Given the description of an element on the screen output the (x, y) to click on. 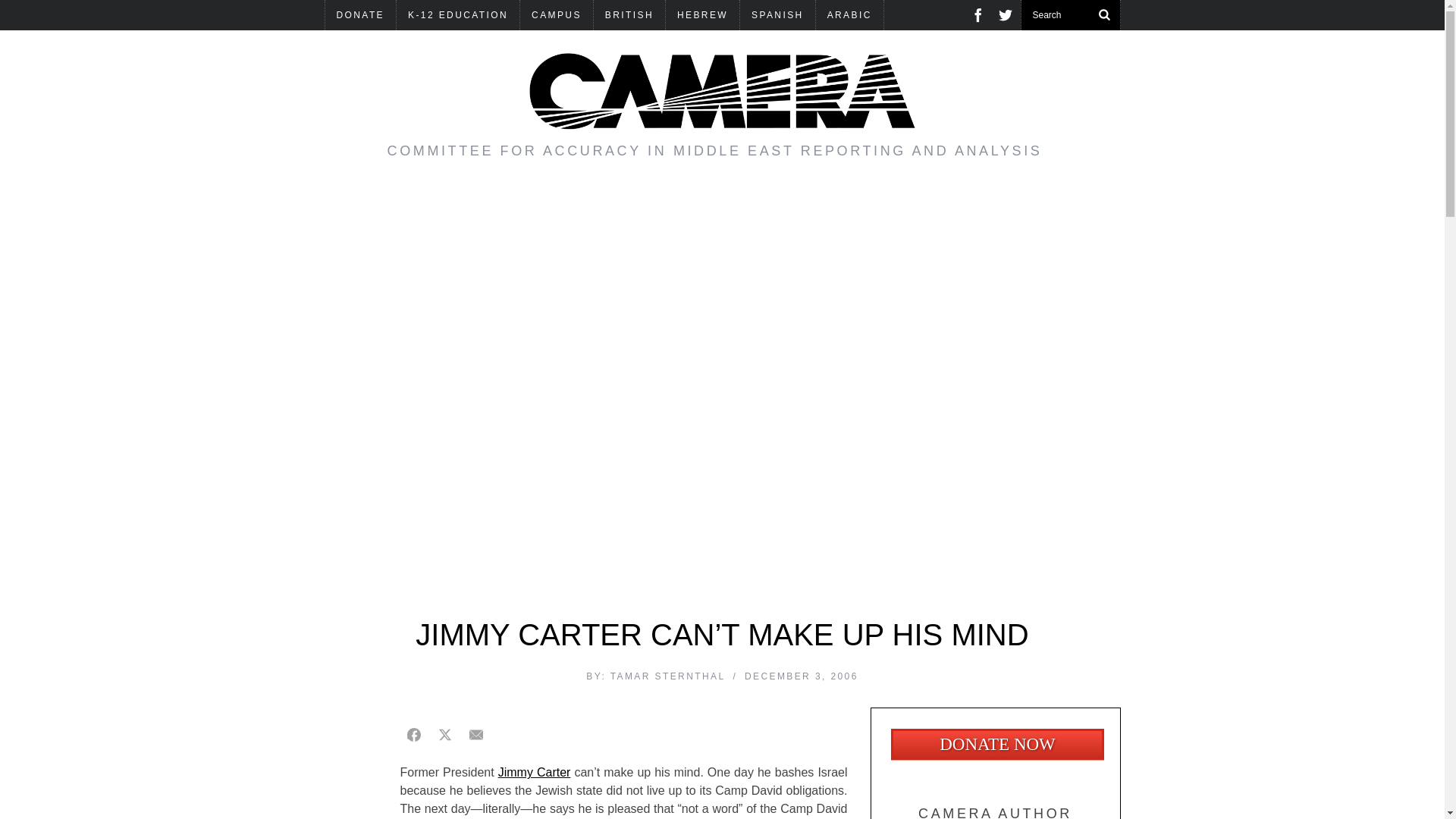
K-12 EDUCATION (457, 14)
DONATE (360, 14)
SPANISH (777, 14)
Share on Facebook (414, 734)
Share on Twitter (444, 734)
Search (1070, 15)
Share on E-mail (476, 734)
HEBREW (702, 14)
BRITISH (629, 14)
CAMPUS (555, 14)
ARABIC (849, 14)
